Given the description of an element on the screen output the (x, y) to click on. 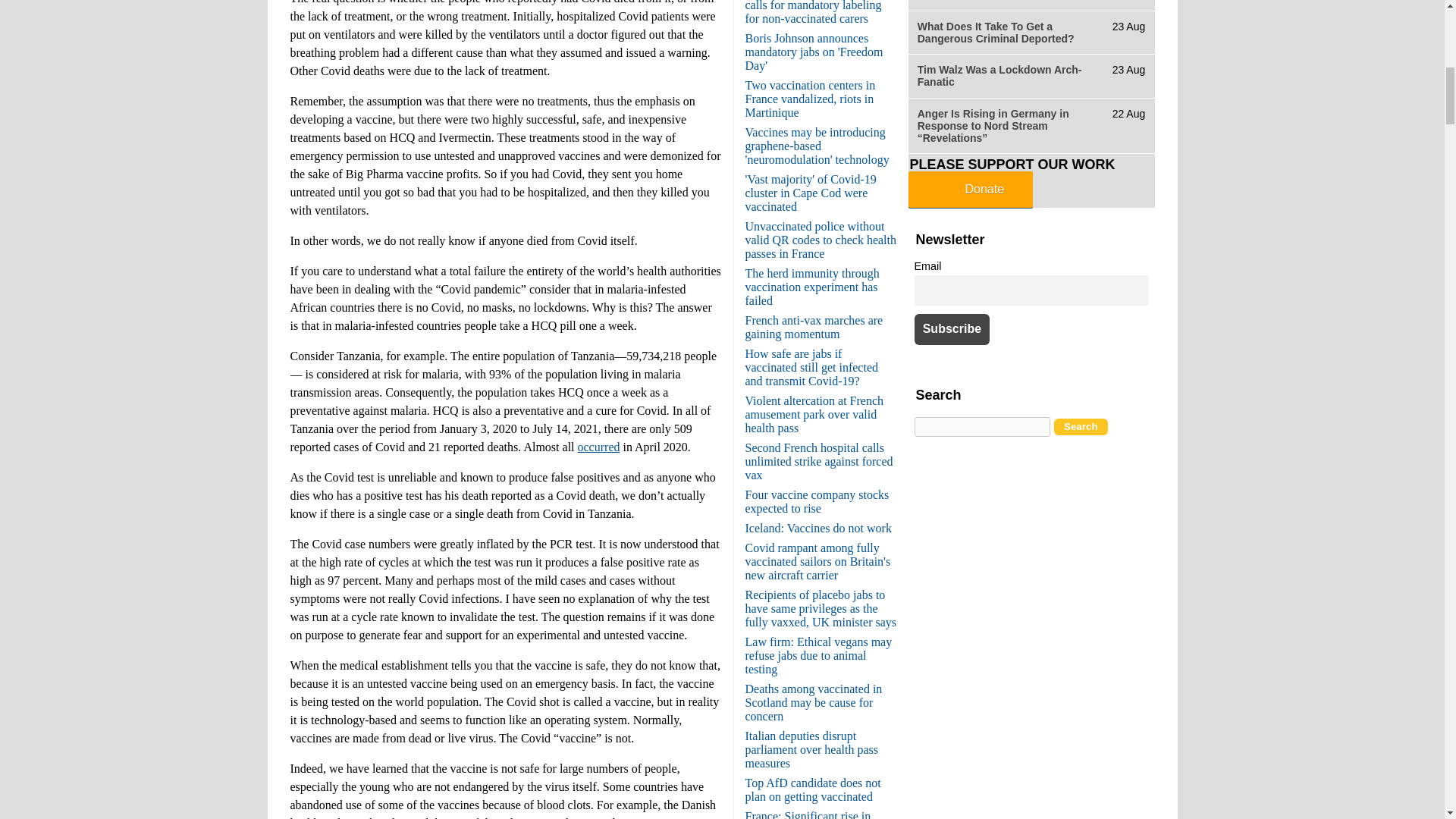
The herd immunity through vaccination experiment has failed (811, 286)
Boris Johnson announces mandatory jabs on 'Freedom Day' (813, 51)
